Given the description of an element on the screen output the (x, y) to click on. 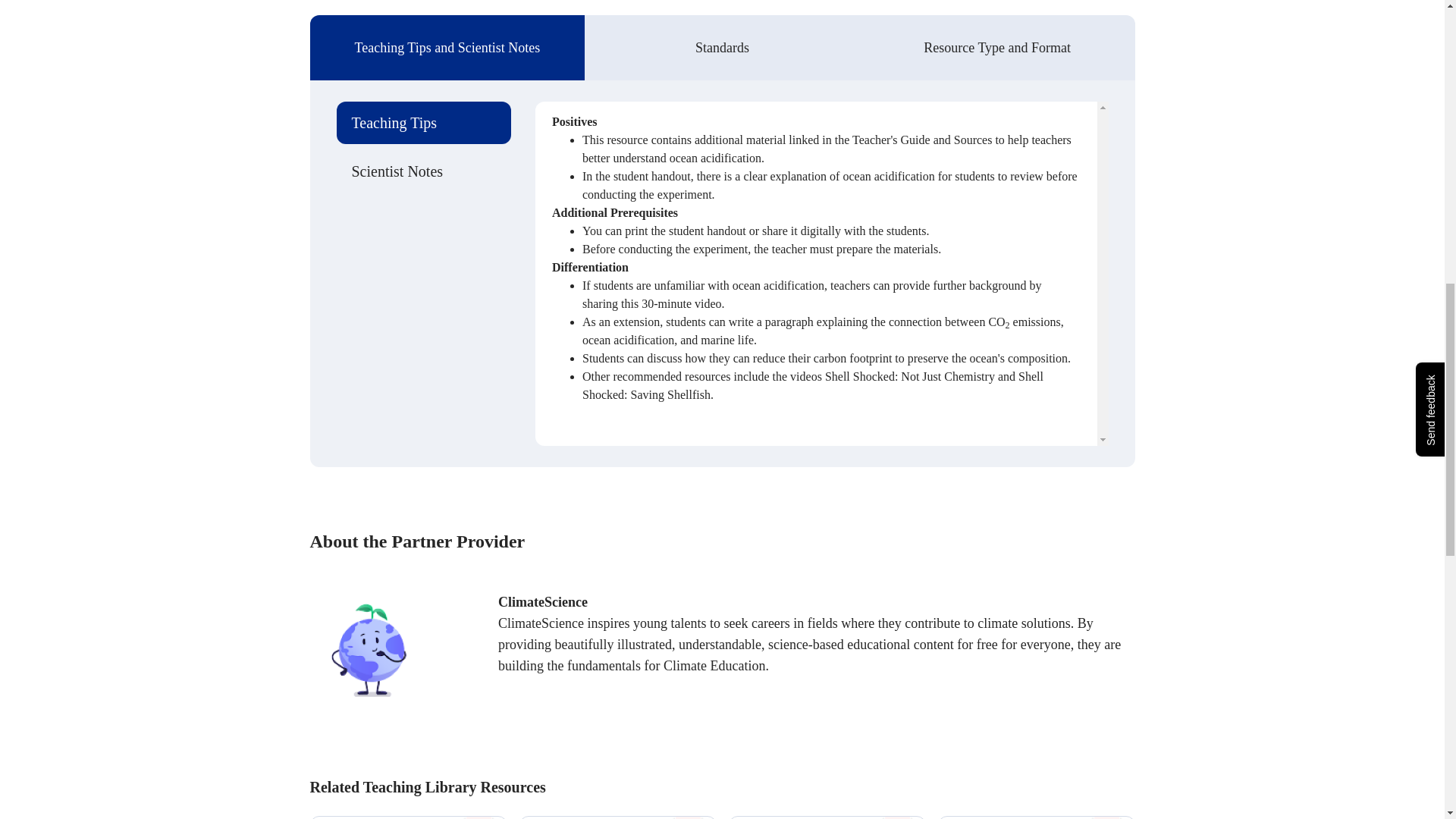
Shell Shocked: Saving Shellfish (812, 385)
Teaching Tips and Scientist Notes (446, 47)
Teaching Tips (424, 122)
Scientist Notes (424, 170)
Standards (722, 47)
Shell Shocked: Not Just Chemistry (909, 376)
Resource Type and Format (997, 47)
this 30-minute video (670, 303)
